Given the description of an element on the screen output the (x, y) to click on. 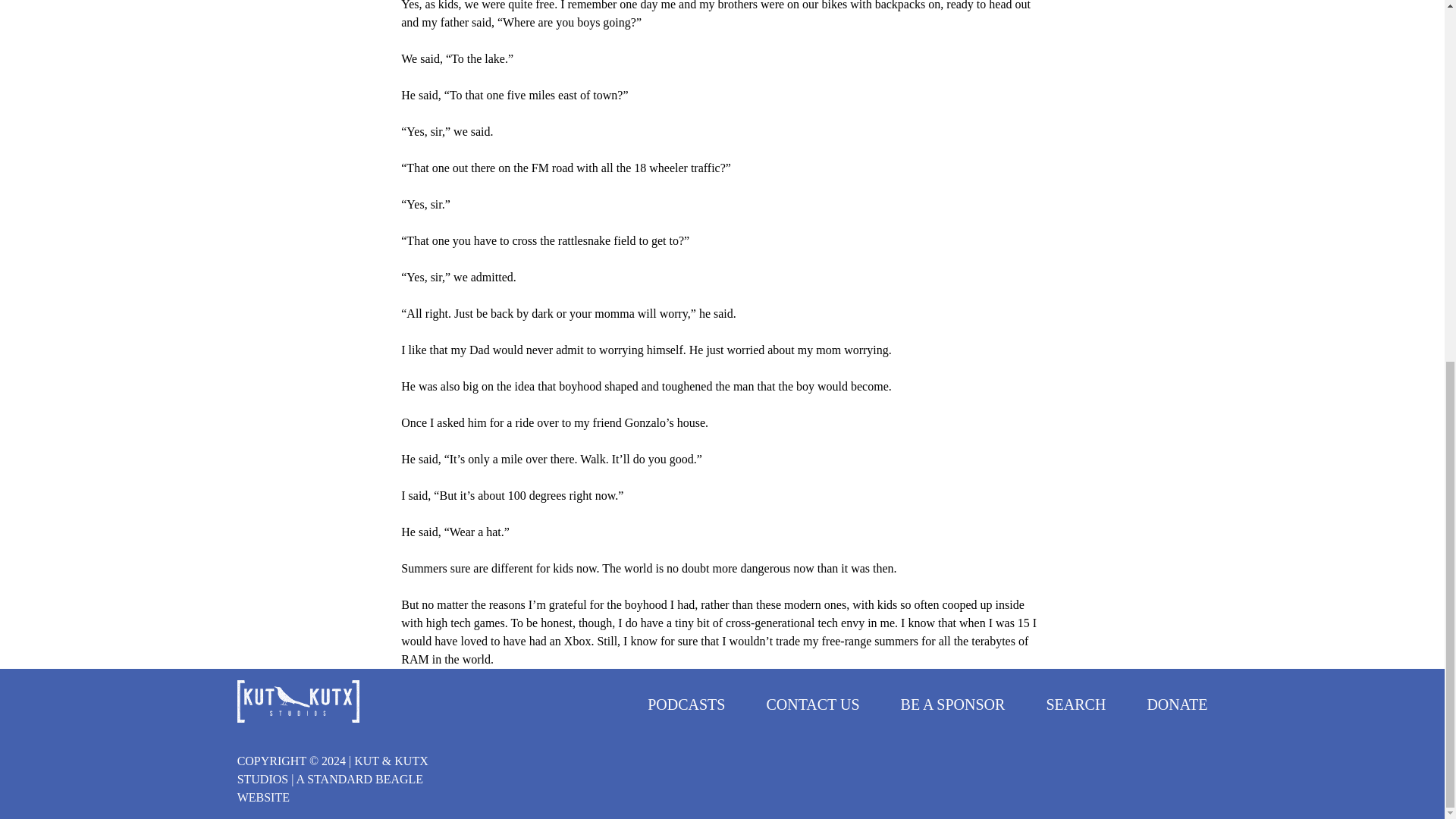
PODCASTS (686, 704)
CONTACT US (812, 704)
SEARCH (1075, 704)
DONATE (1177, 704)
BE A SPONSOR (953, 704)
